Given the description of an element on the screen output the (x, y) to click on. 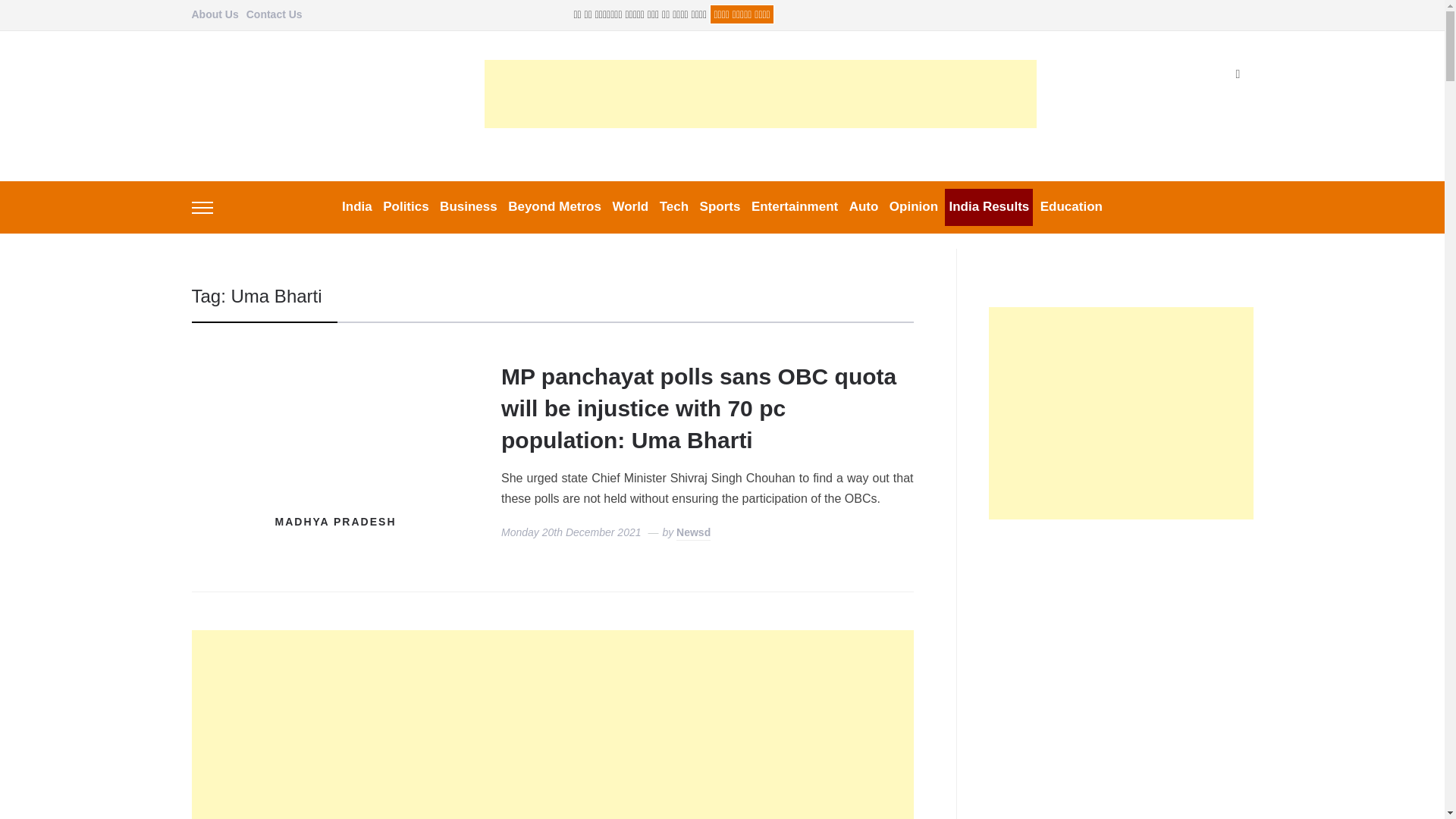
Search (1237, 74)
Posts by Newsd (693, 533)
Entertainment (794, 207)
Beyond Metros (554, 207)
Tech (673, 207)
About Us (214, 15)
Contact Us (274, 15)
Sports (720, 207)
Politics (405, 207)
Opinion (913, 207)
World (629, 207)
Auto (863, 207)
India (357, 207)
Business (468, 207)
